Given the description of an element on the screen output the (x, y) to click on. 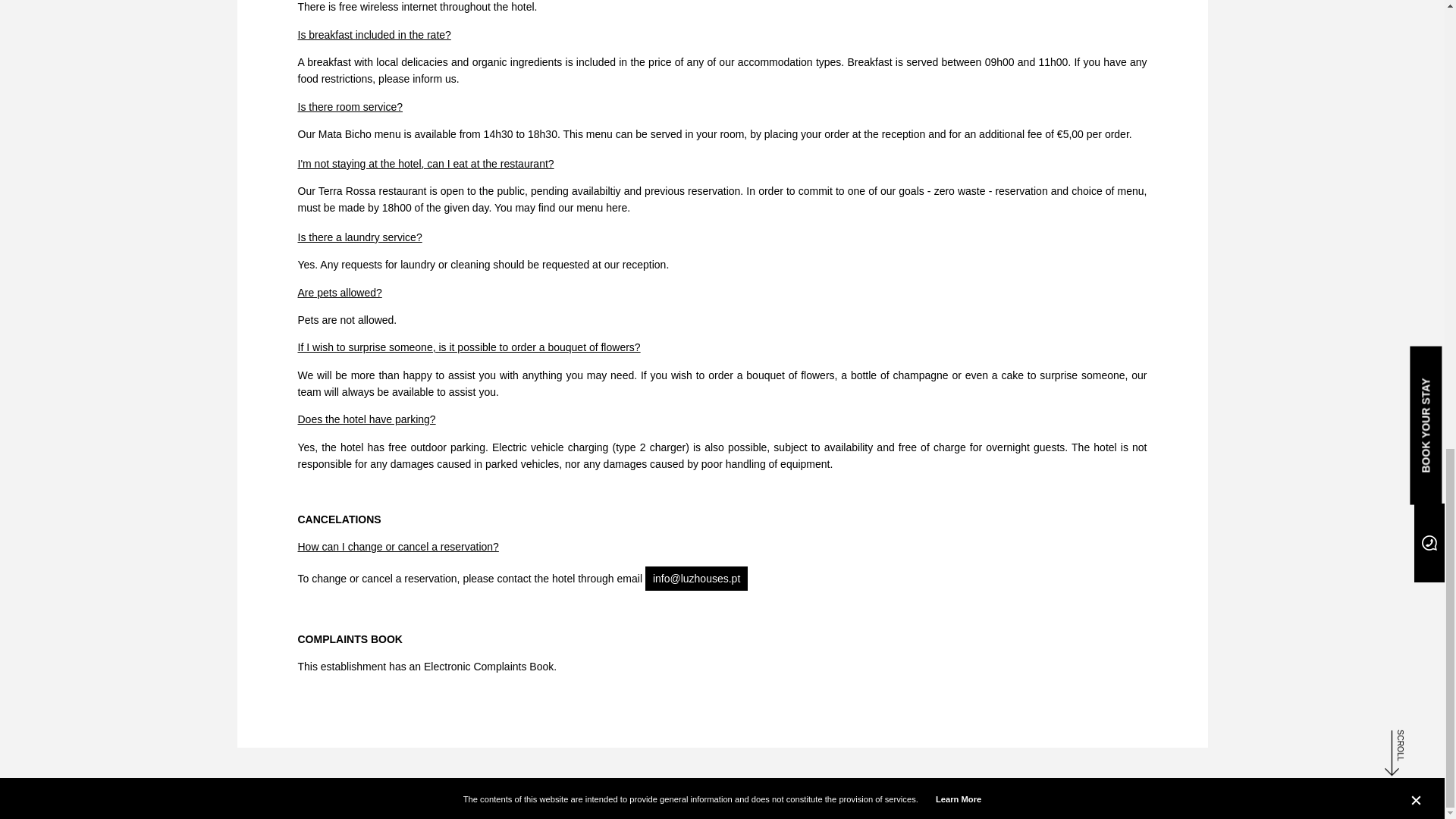
Contacts (773, 798)
Work with us (265, 798)
FAQ (314, 798)
Credits (697, 798)
Supports (734, 798)
